Given the description of an element on the screen output the (x, y) to click on. 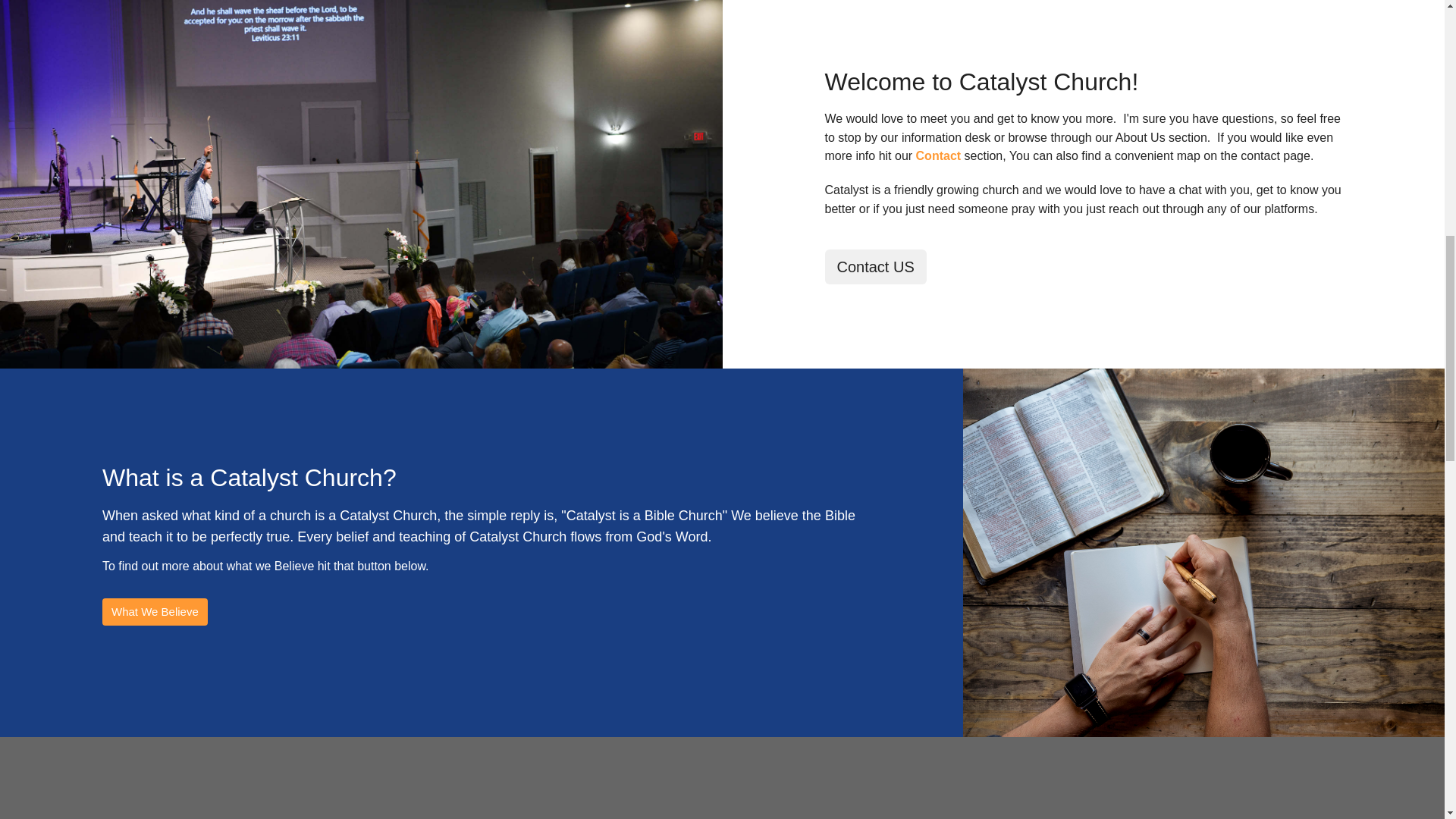
What We Believe (154, 611)
Contact US (875, 267)
Contact US (937, 155)
Contact (937, 155)
